Given the description of an element on the screen output the (x, y) to click on. 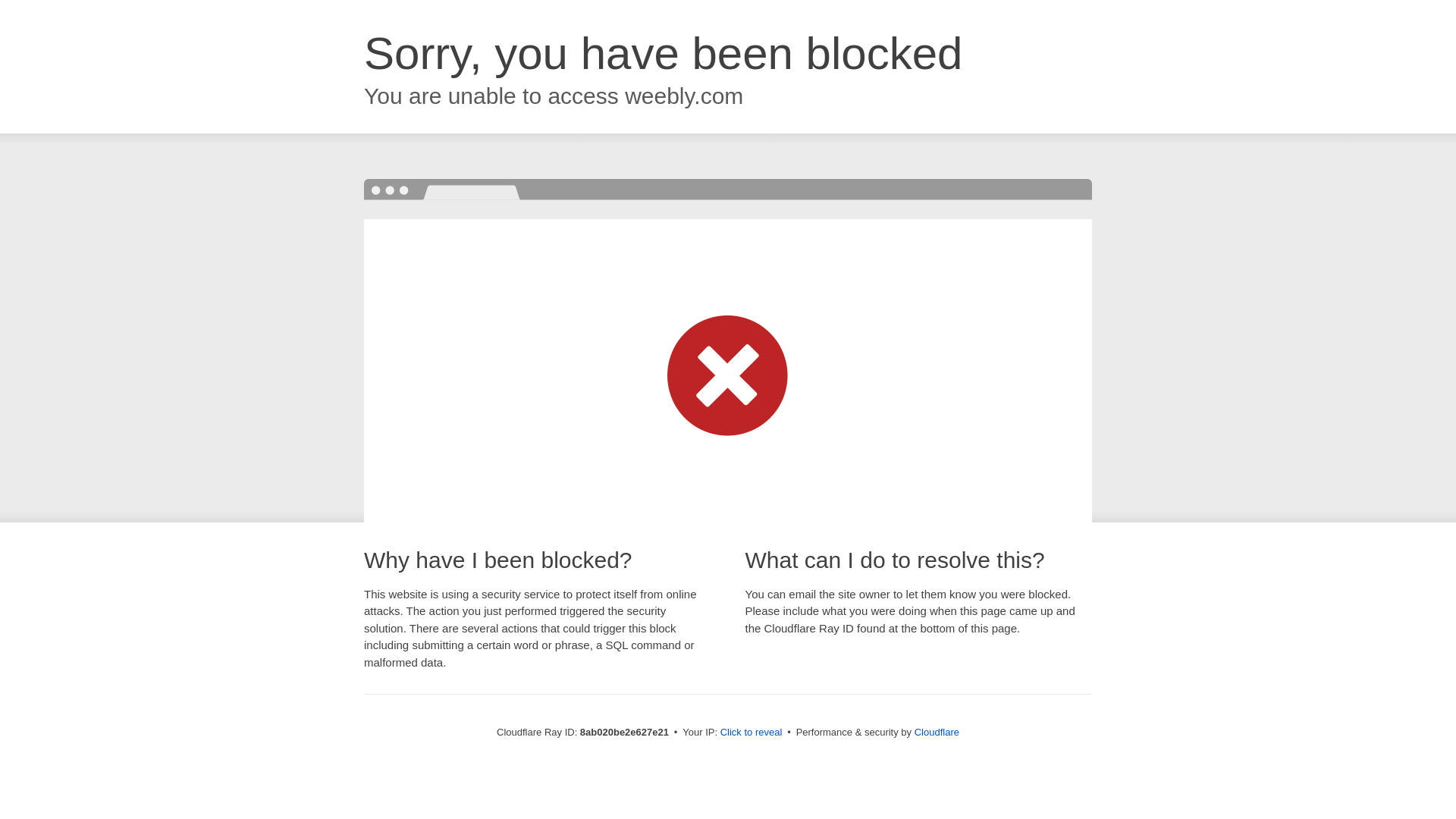
Click to reveal (751, 732)
Cloudflare (936, 731)
